Given the description of an element on the screen output the (x, y) to click on. 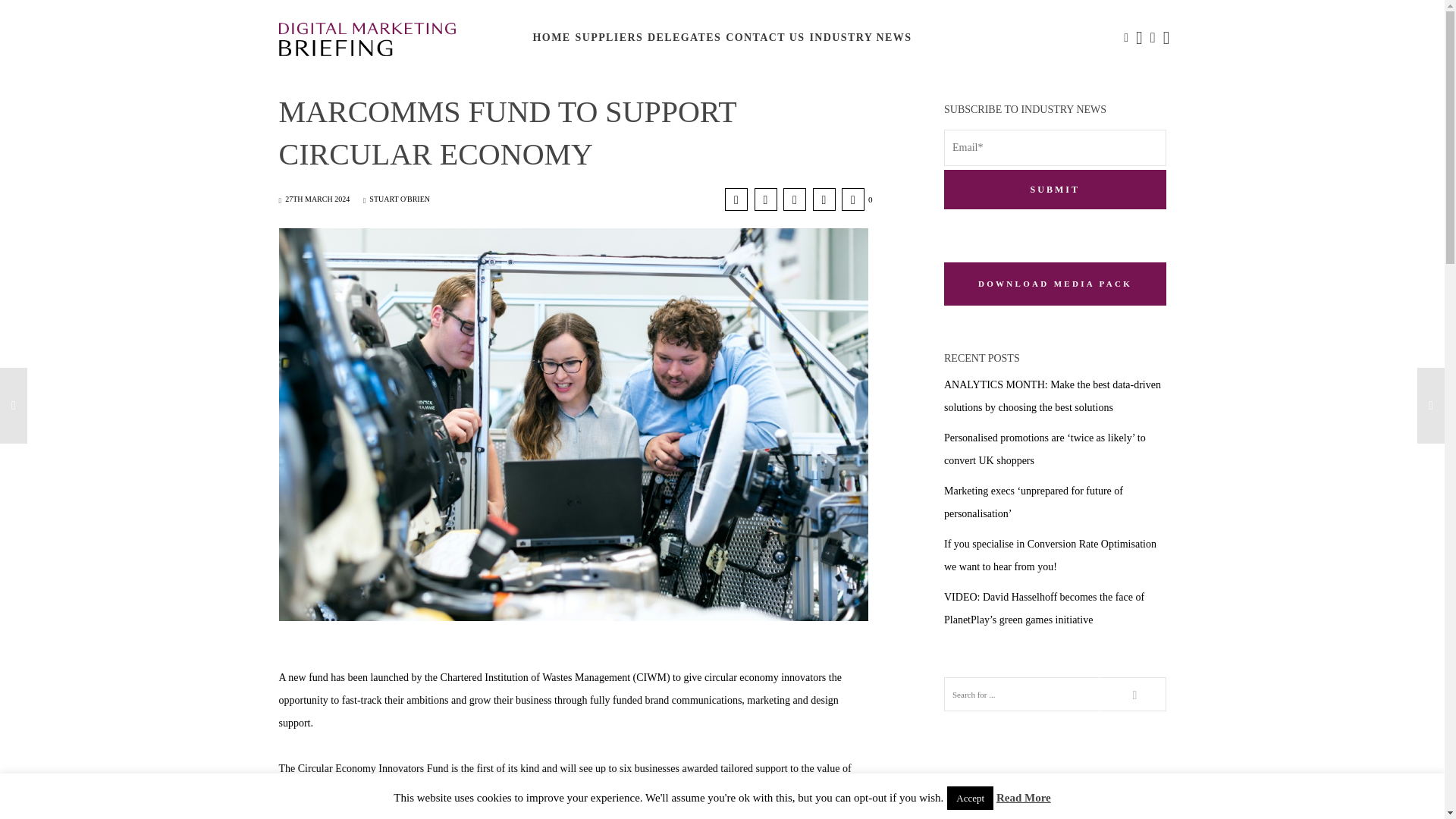
INDUSTRY NEWS (860, 38)
Marcomms fund to support circular economy (794, 199)
Marcomms fund to support circular economy (823, 199)
CONTACT US (765, 38)
HOME (551, 38)
SUPPLIERS (609, 38)
Marcomms fund to support circular economy (736, 199)
STUART O'BRIEN (395, 198)
Marcomms fund to support circular economy (765, 199)
Submit (1054, 189)
DELEGATES (683, 38)
